Given the description of an element on the screen output the (x, y) to click on. 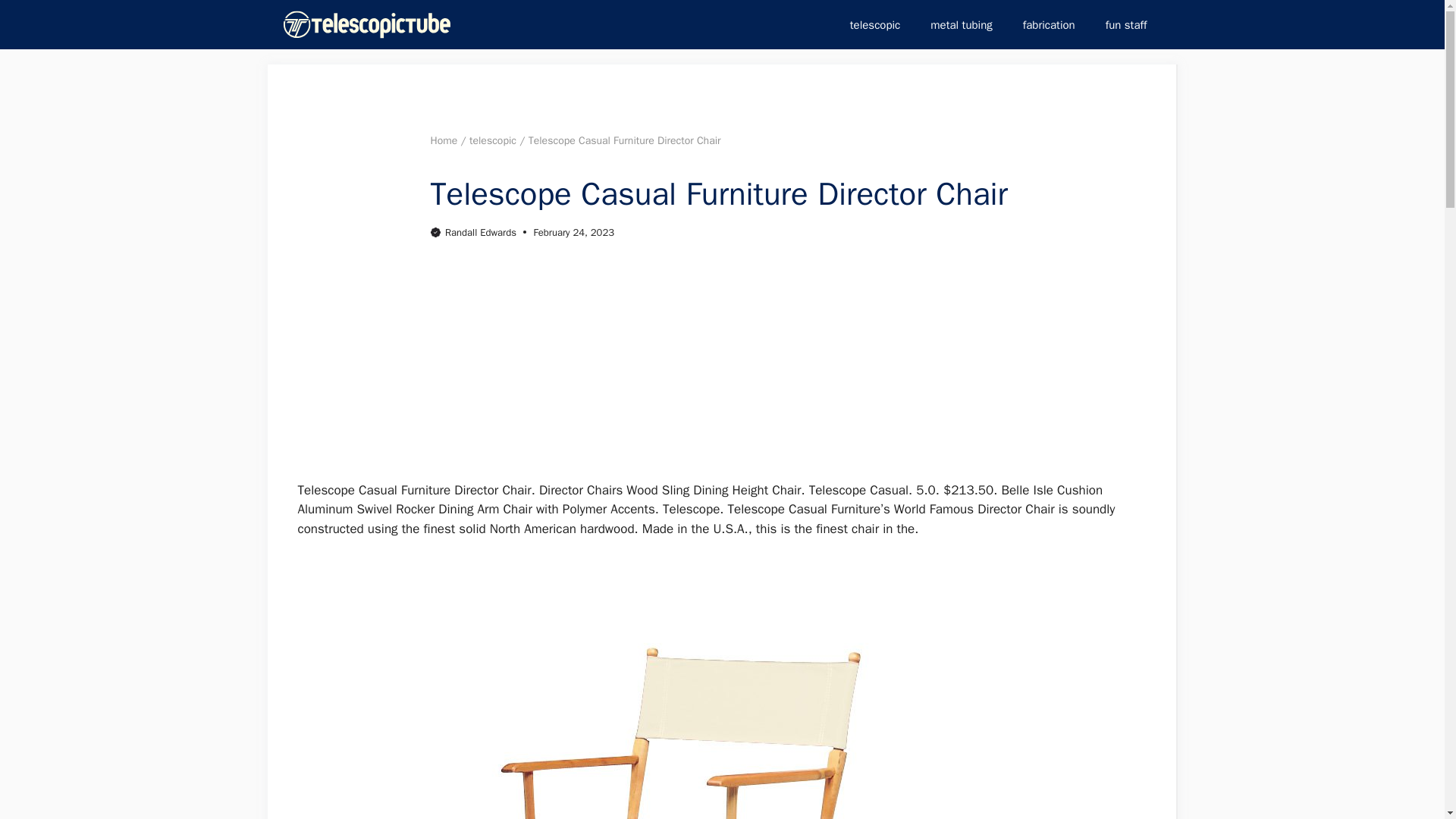
fabrication (1048, 23)
telescopic (874, 23)
Home (444, 140)
fun staff (1125, 23)
Randall Edwards (480, 232)
Telescopic Tube (367, 24)
telescopic (492, 140)
metal tubing (961, 23)
